Given the description of an element on the screen output the (x, y) to click on. 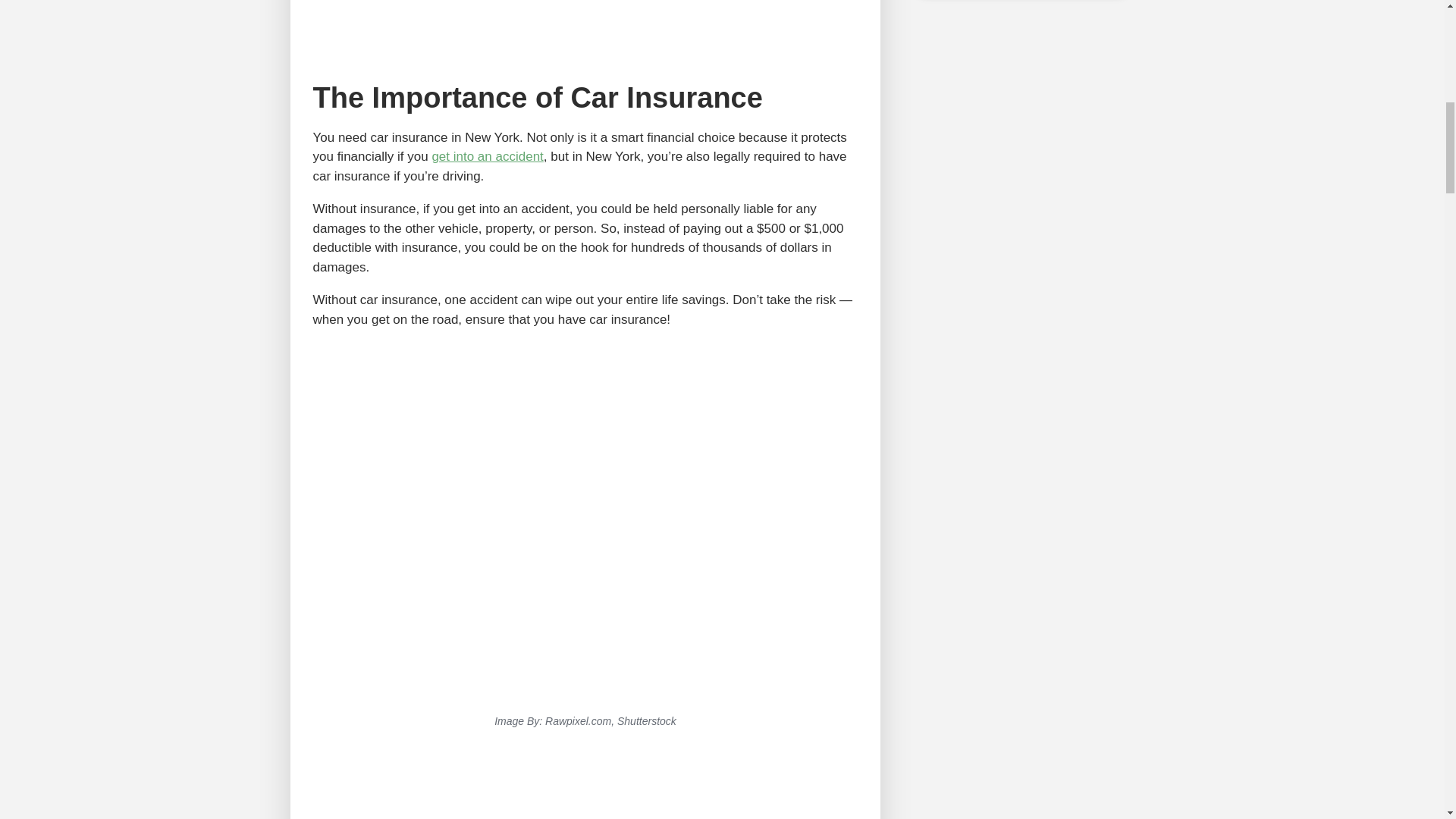
get into an accident (486, 156)
